Given the description of an element on the screen output the (x, y) to click on. 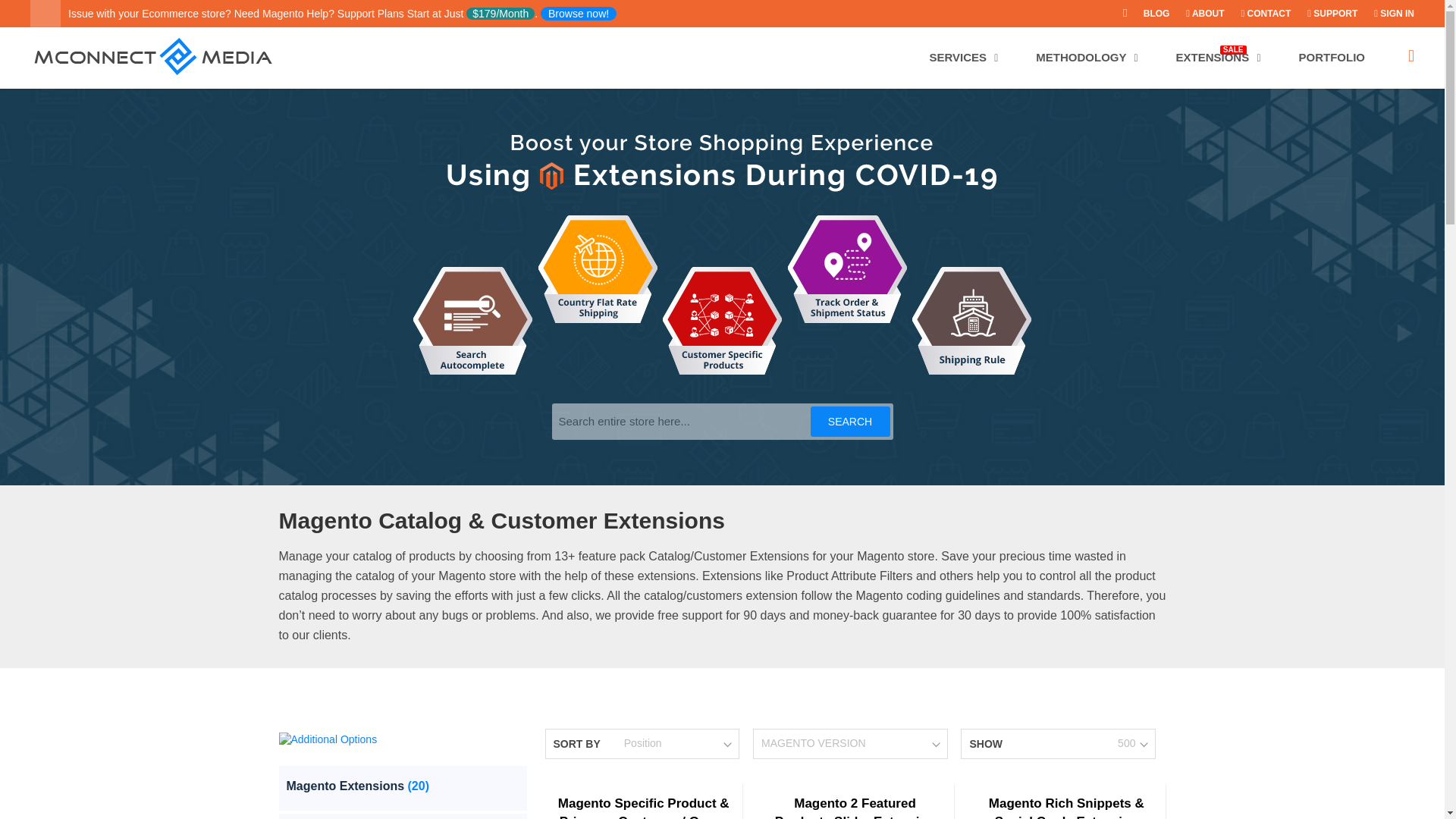
Blog (1149, 13)
Sign In (1393, 13)
Browse now! (577, 13)
BLOG (1149, 13)
SIGN IN (1393, 13)
Support (1325, 13)
Search (849, 421)
About Us (1198, 13)
ABOUT (1198, 13)
Magento Ecommerce Special Offers (1119, 13)
Magento Support (577, 13)
PORTFOLIO (1331, 57)
SUPPORT (1325, 13)
Contact Us (1258, 13)
SERVICES (963, 57)
